Given the description of an element on the screen output the (x, y) to click on. 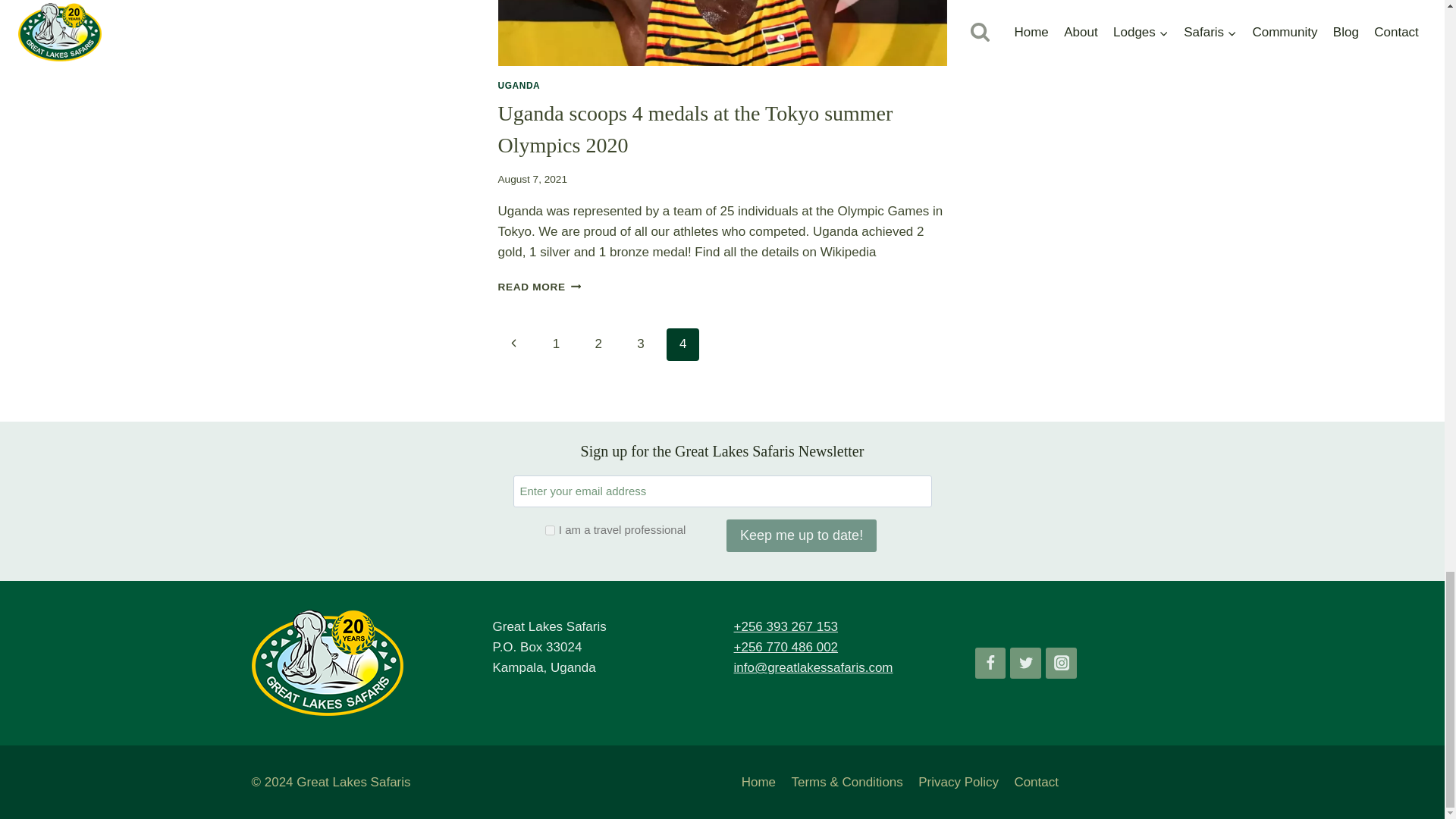
I am a travel professional (549, 530)
Keep me up to date! (801, 535)
